Given the description of an element on the screen output the (x, y) to click on. 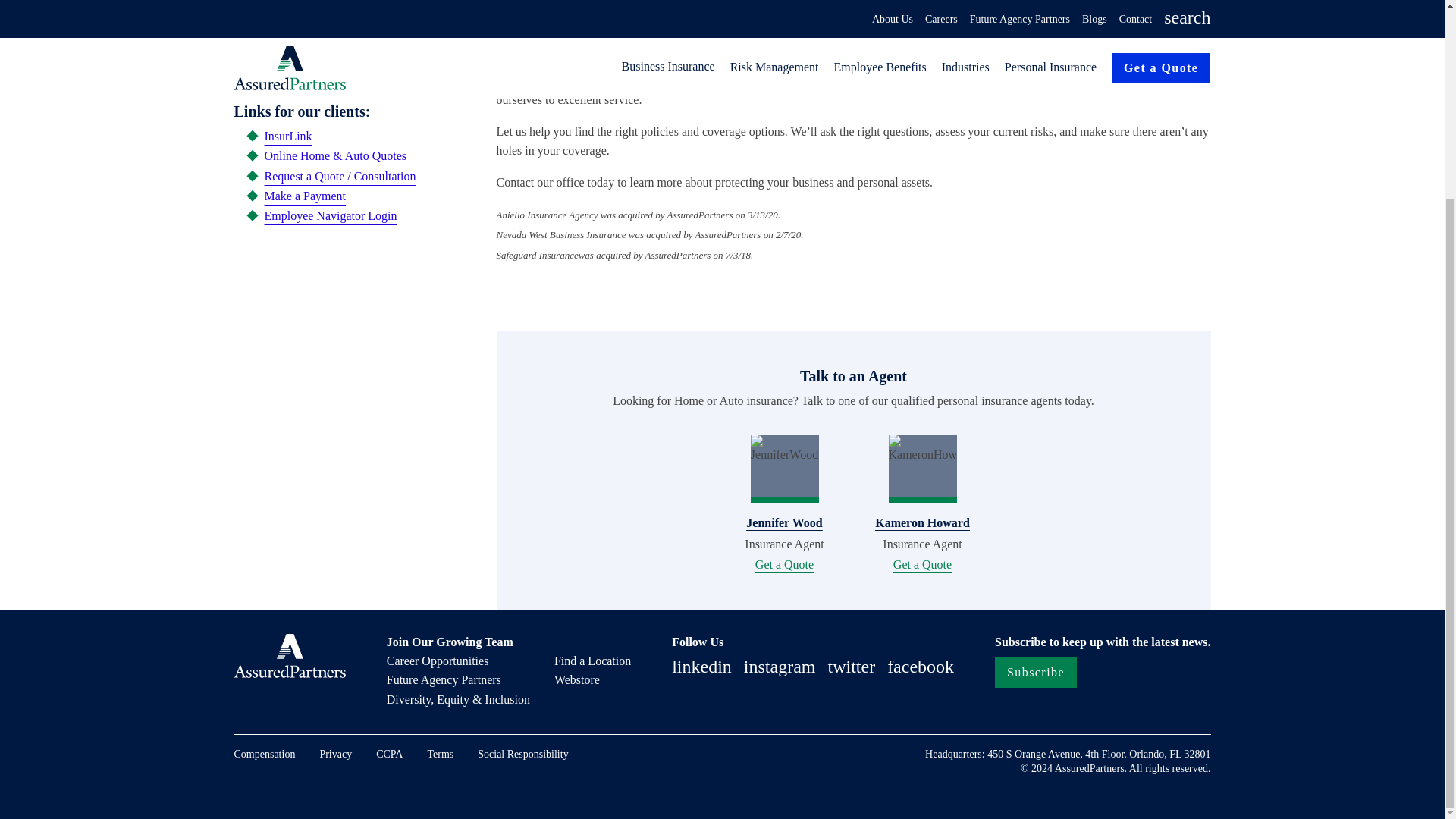
Career Opportunities (438, 660)
